Given the description of an element on the screen output the (x, y) to click on. 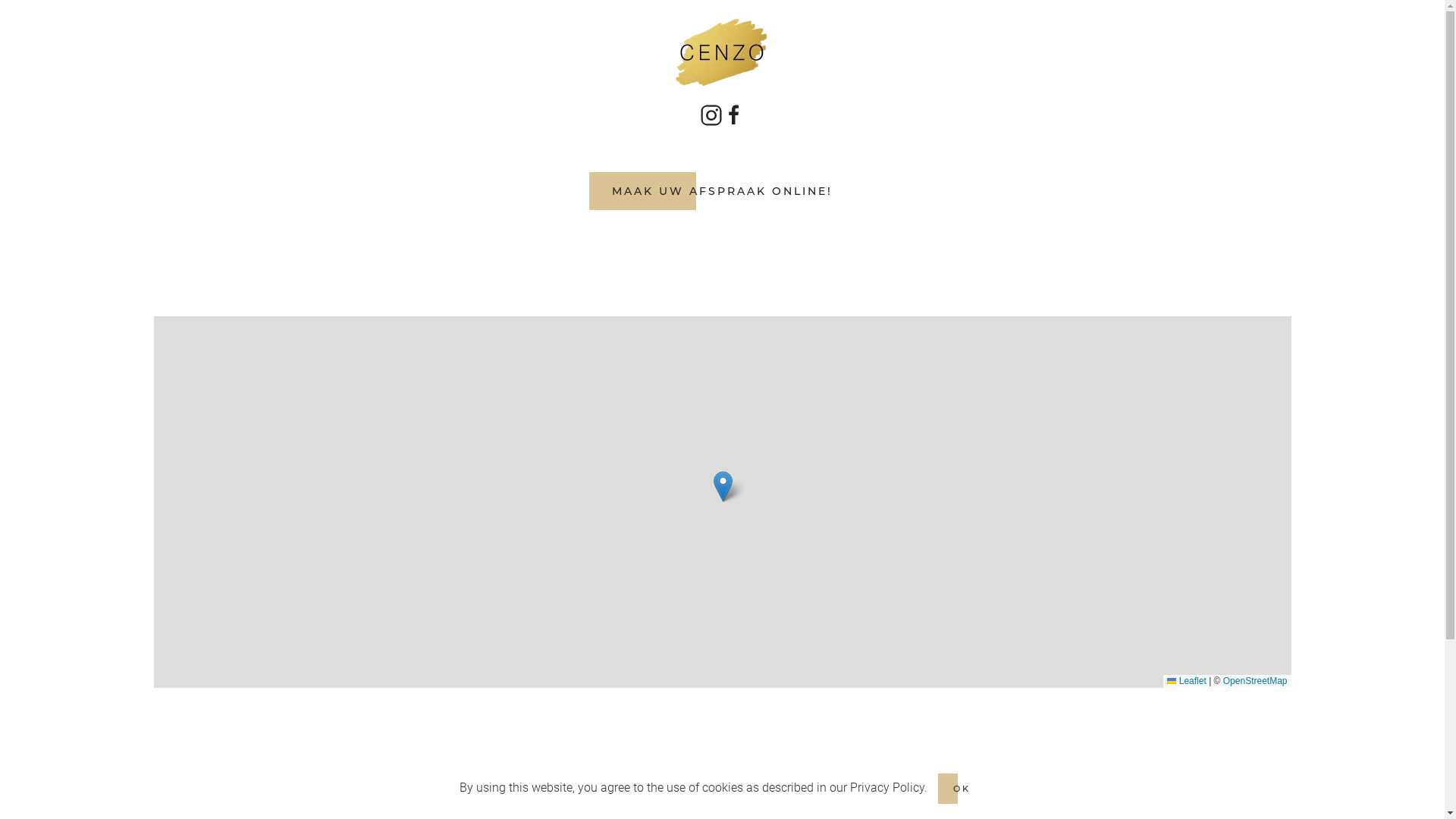
OK Element type: text (961, 788)
Leaflet Element type: text (1186, 680)
Cenzo Element type: hover (721, 486)
OpenStreetMap Element type: text (1255, 680)
MAAK UW AFSPRAAK ONLINE! Element type: text (722, 191)
